Given the description of an element on the screen output the (x, y) to click on. 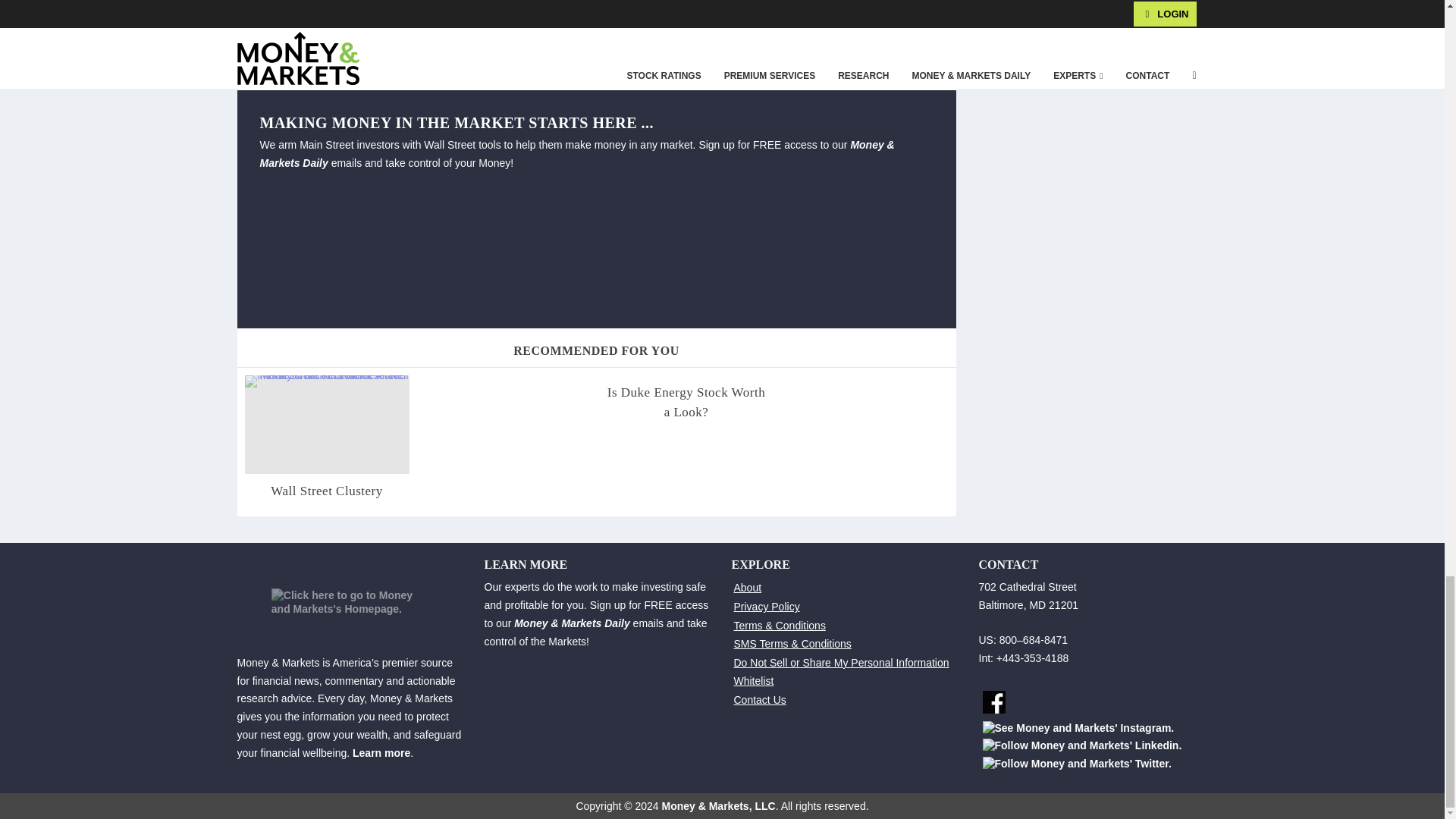
Wall Street Clustery (325, 490)
Is Duke Energy Stock Worth a Look? (686, 401)
Privacy Policy (766, 606)
Whitelist (753, 680)
Learn more (381, 752)
Do Not Sell or Share My Personal Information (841, 662)
Contact Us (759, 699)
Wall Street Clustery (325, 490)
Wall Street Clustery (326, 424)
Is Duke Energy Stock Worth a Look? (686, 401)
About (747, 587)
